Given the description of an element on the screen output the (x, y) to click on. 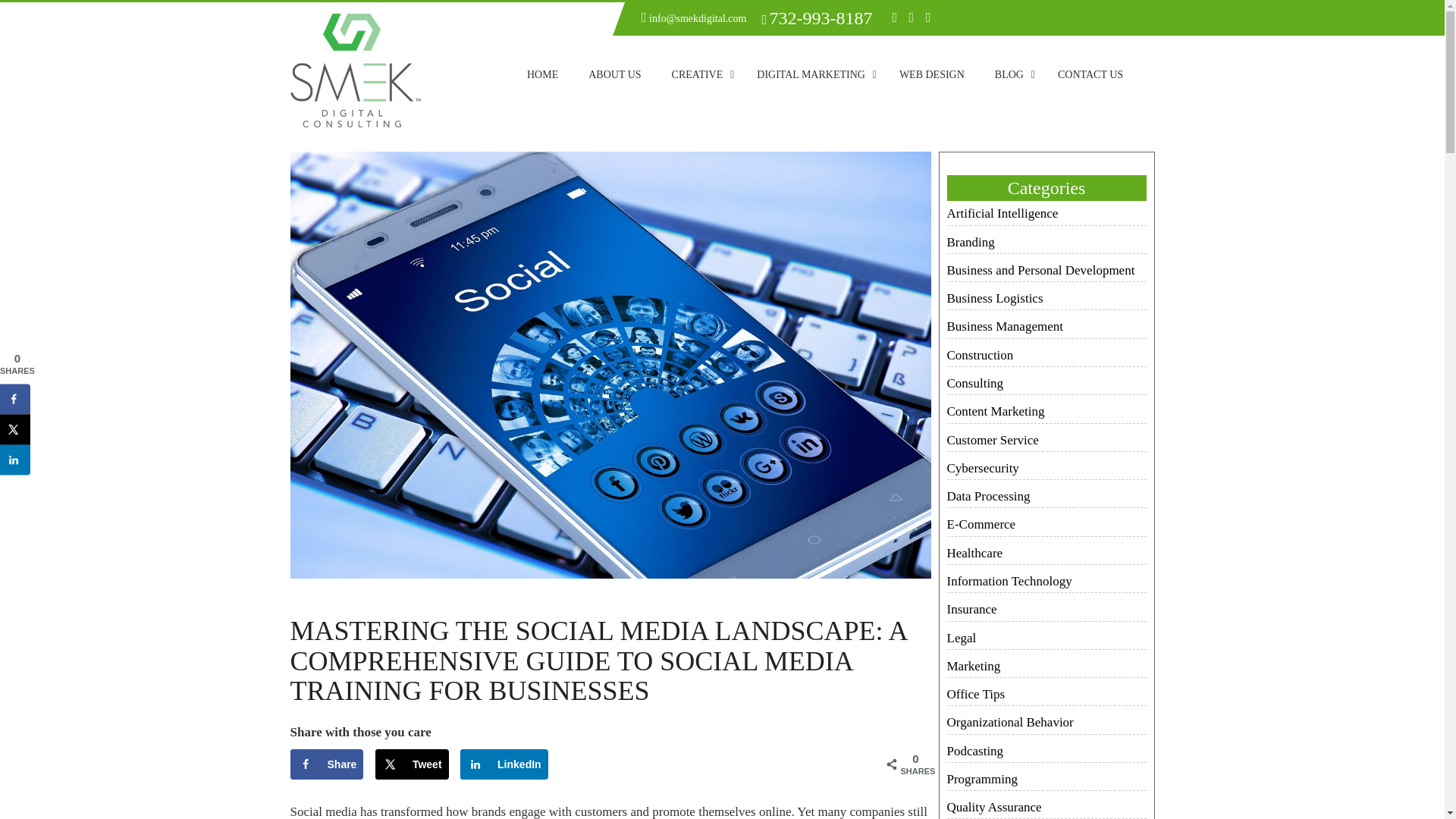
Share on X (15, 429)
Share on LinkedIn (15, 459)
CREATIVE (699, 74)
Share on Facebook (15, 399)
HOME (542, 74)
DIGITAL MARKETING (812, 74)
Share (325, 764)
Share on LinkedIn (504, 764)
ABOUT US (614, 74)
732-993-8187 (821, 20)
Share on X (411, 764)
WEB DESIGN (931, 74)
BLOG (1010, 74)
Share on Facebook (325, 764)
